Given the description of an element on the screen output the (x, y) to click on. 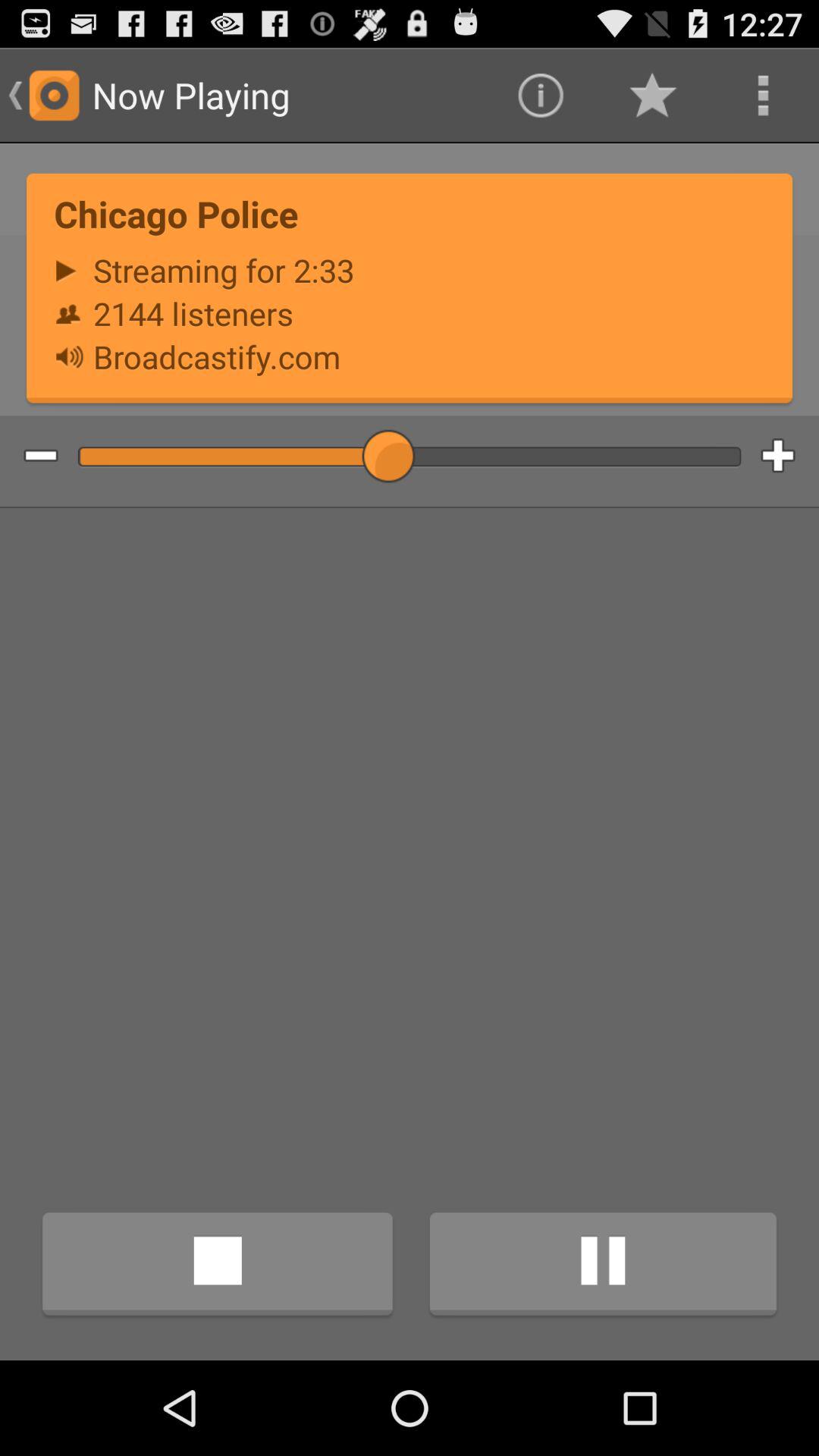
press the icon at the bottom left corner (217, 1266)
